Given the description of an element on the screen output the (x, y) to click on. 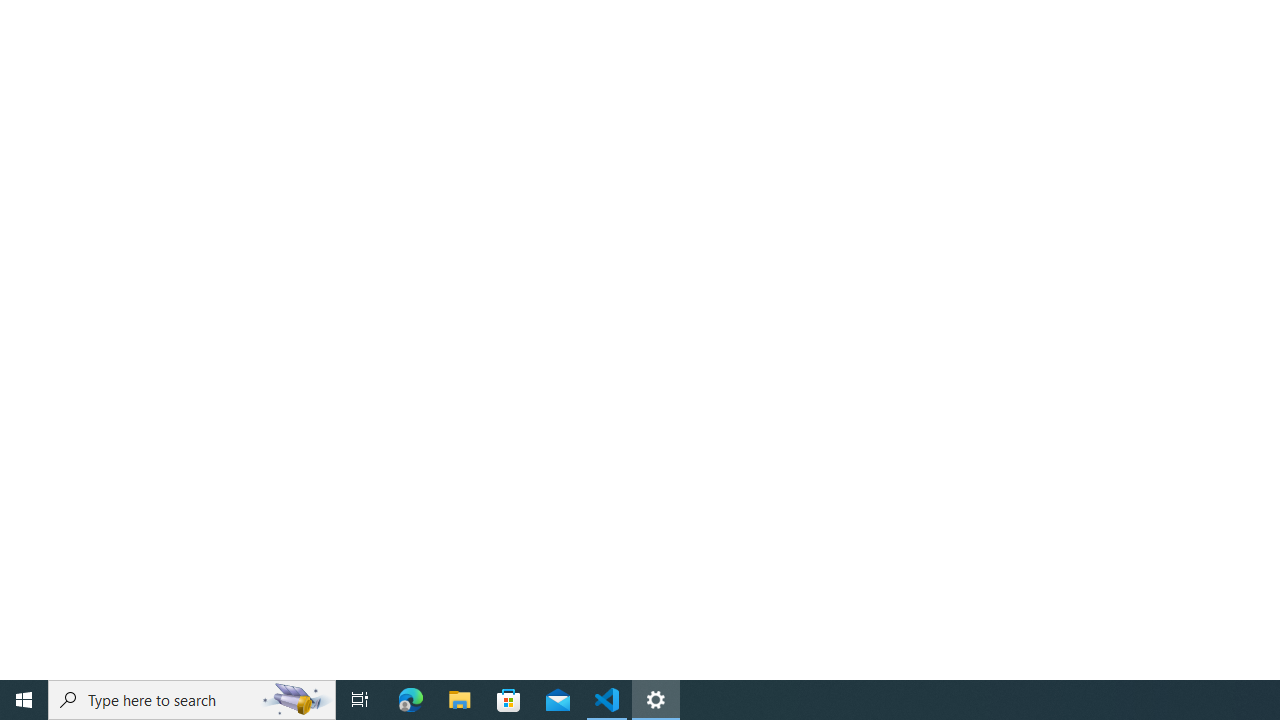
Settings - 1 running window (656, 699)
